Given the description of an element on the screen output the (x, y) to click on. 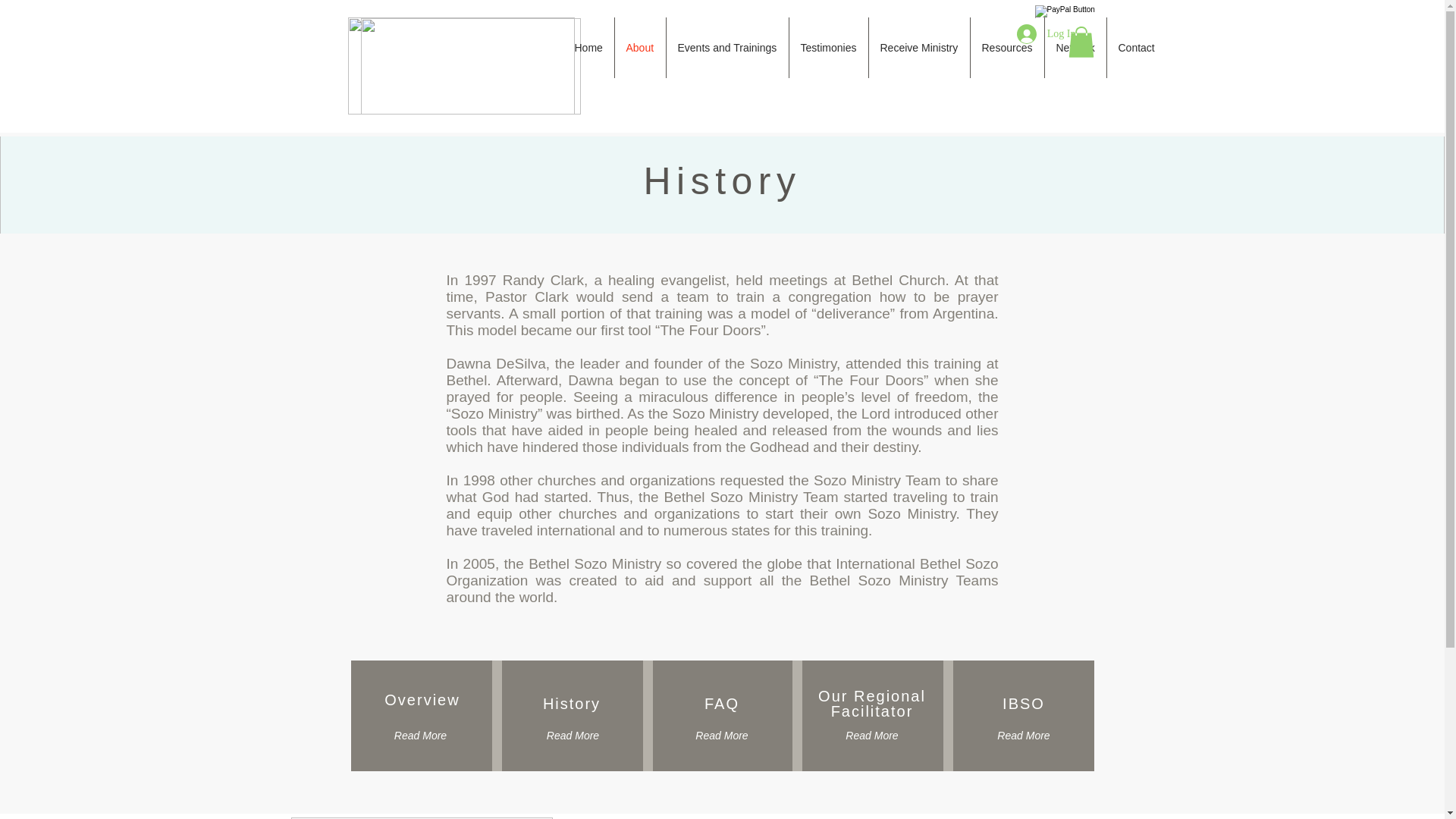
Resources (1007, 47)
Read More (871, 735)
Receive Ministry (919, 47)
Read More (1022, 735)
Network (1075, 47)
Events and Trainings (726, 47)
Testimonies (828, 47)
Contact (1136, 47)
Read More (573, 735)
